Given the description of an element on the screen output the (x, y) to click on. 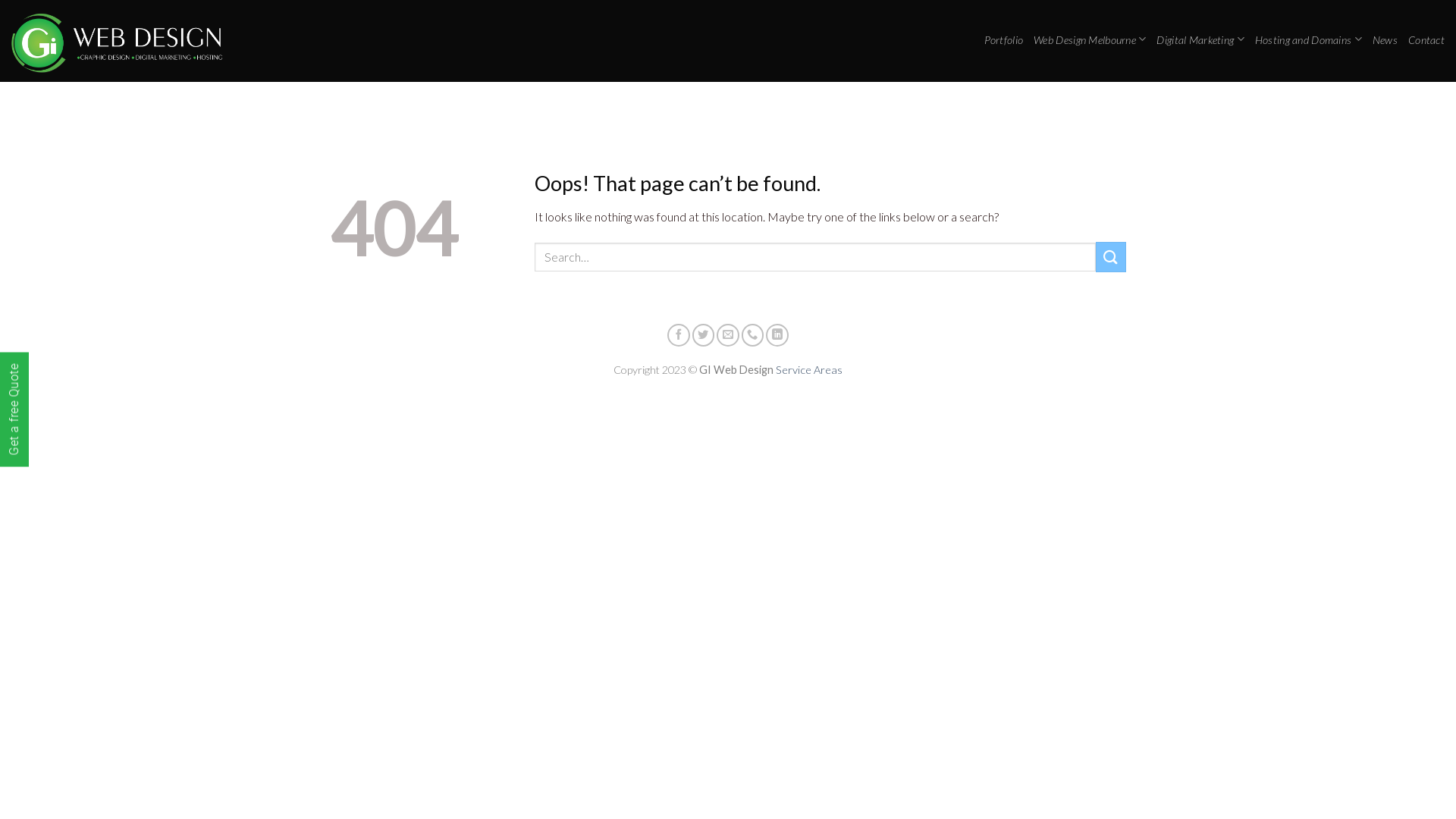
Web Design Melbourne Element type: text (1089, 38)
Hosting and Domains Element type: text (1308, 38)
Contact Element type: text (1426, 38)
Service Areas Element type: text (807, 369)
Digital Marketing Element type: text (1199, 38)
08:00 - 17:30 Element type: text (1301, 102)
GI Web Design - Web Development Element type: hover (120, 41)
Follow on LinkedIn Element type: hover (776, 334)
Portfolio Element type: text (1003, 38)
03 9744 2887 Element type: text (1401, 102)
Follow on Twitter Element type: hover (703, 334)
Get a free Quote Element type: text (57, 365)
Follow on Facebook Element type: hover (678, 334)
Send us an email Element type: hover (727, 334)
Call us Element type: hover (752, 334)
News Element type: text (1384, 38)
